Given the description of an element on the screen output the (x, y) to click on. 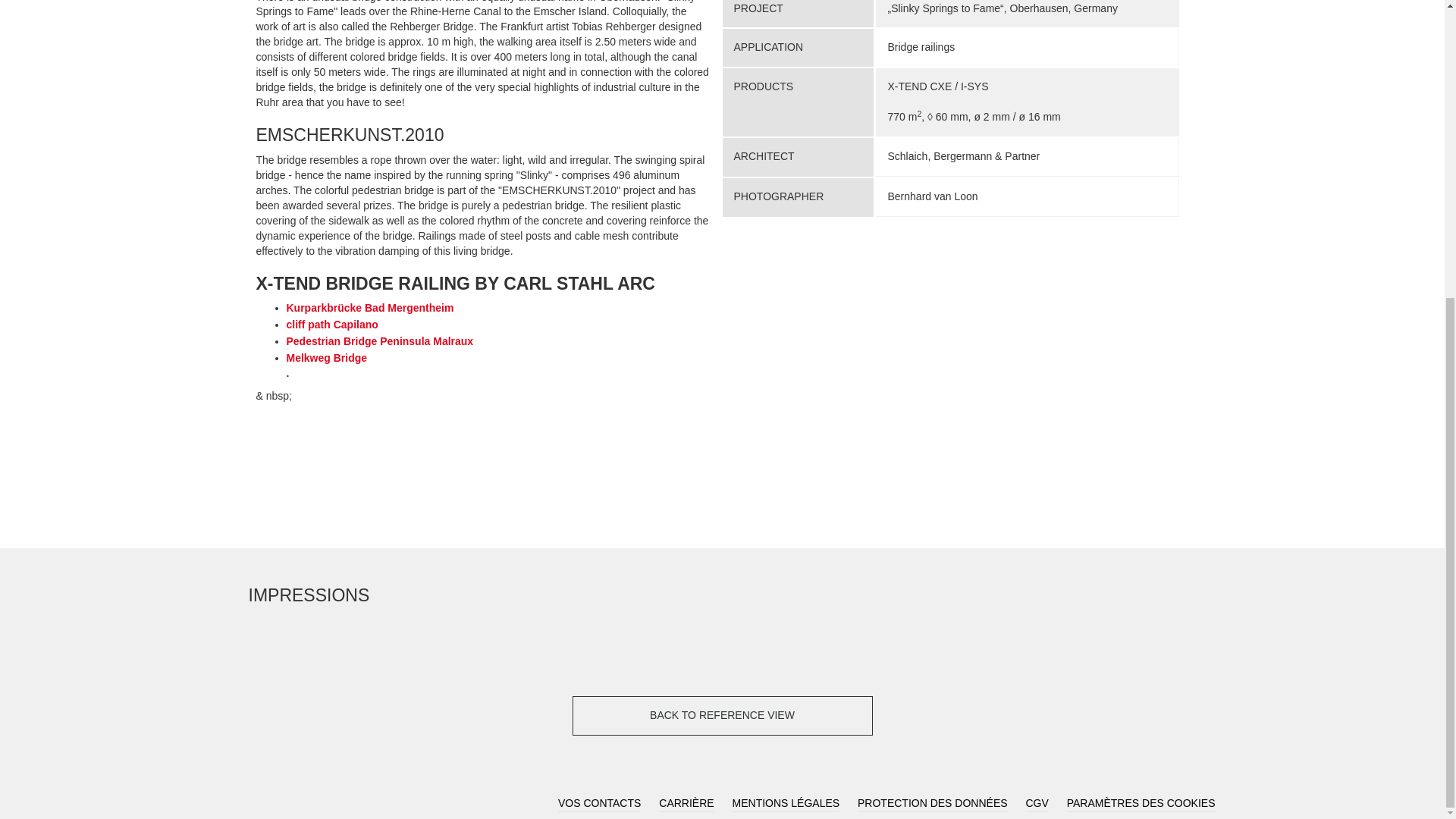
cliff path Capilano (332, 324)
Melkweg Bridge (327, 357)
Pedestrian Bridge Peninsula Malraux (380, 340)
